Given the description of an element on the screen output the (x, y) to click on. 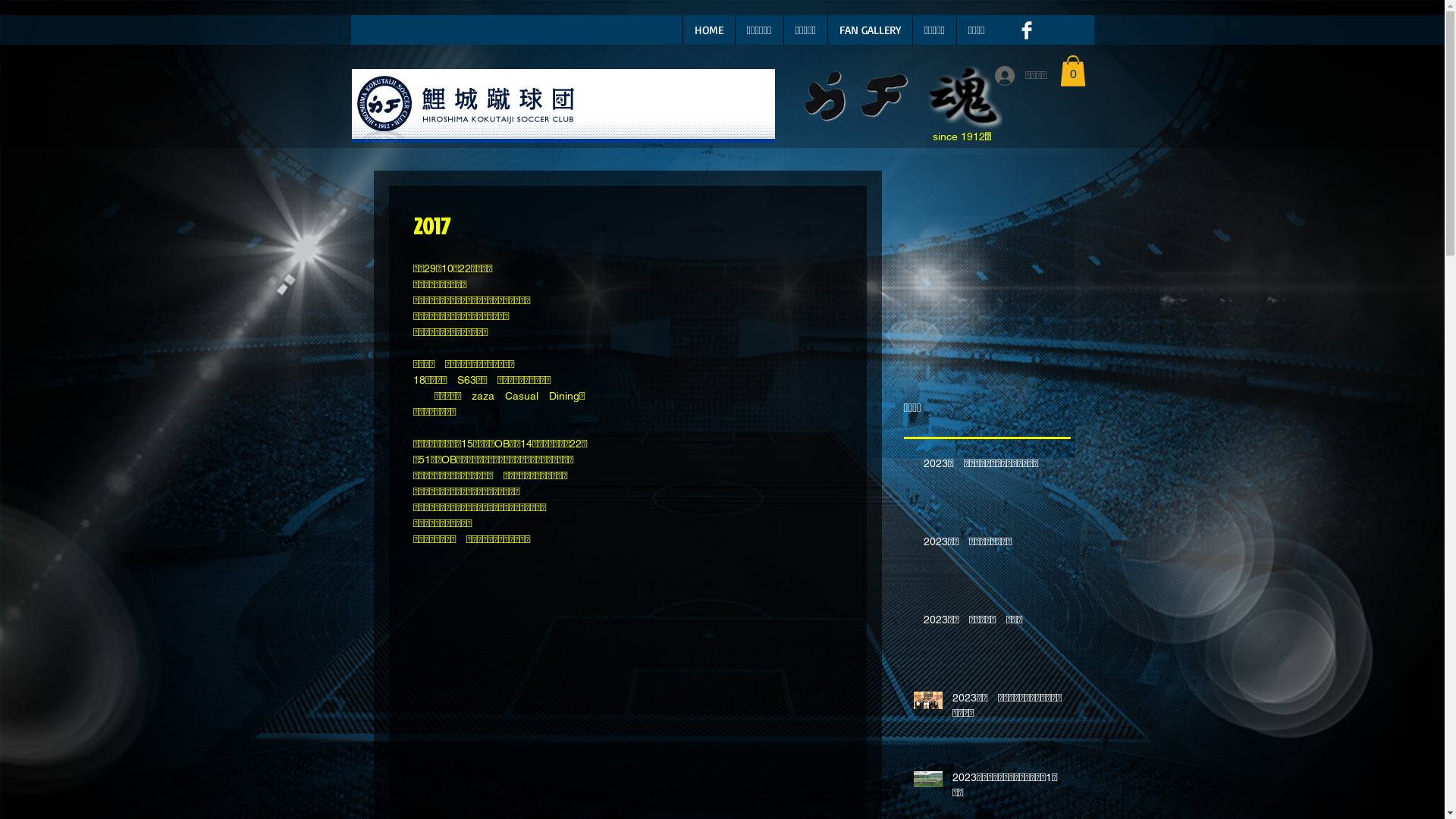
0 Element type: text (1072, 70)
HOME Element type: text (708, 29)
FAN GALLERY Element type: text (868, 29)
